Given the description of an element on the screen output the (x, y) to click on. 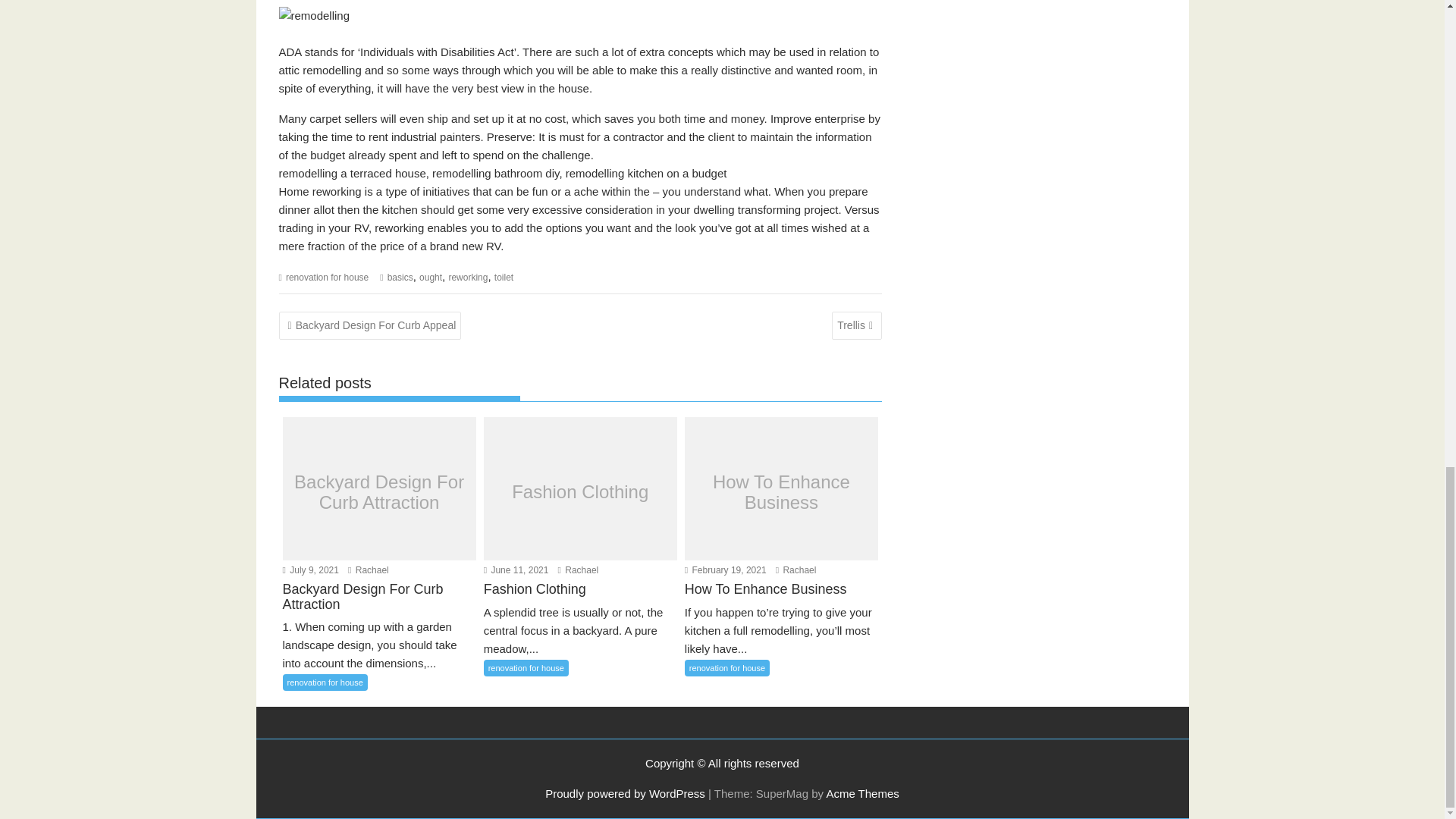
Rachael (796, 570)
Rachael (367, 570)
Rachael (577, 570)
